Given the description of an element on the screen output the (x, y) to click on. 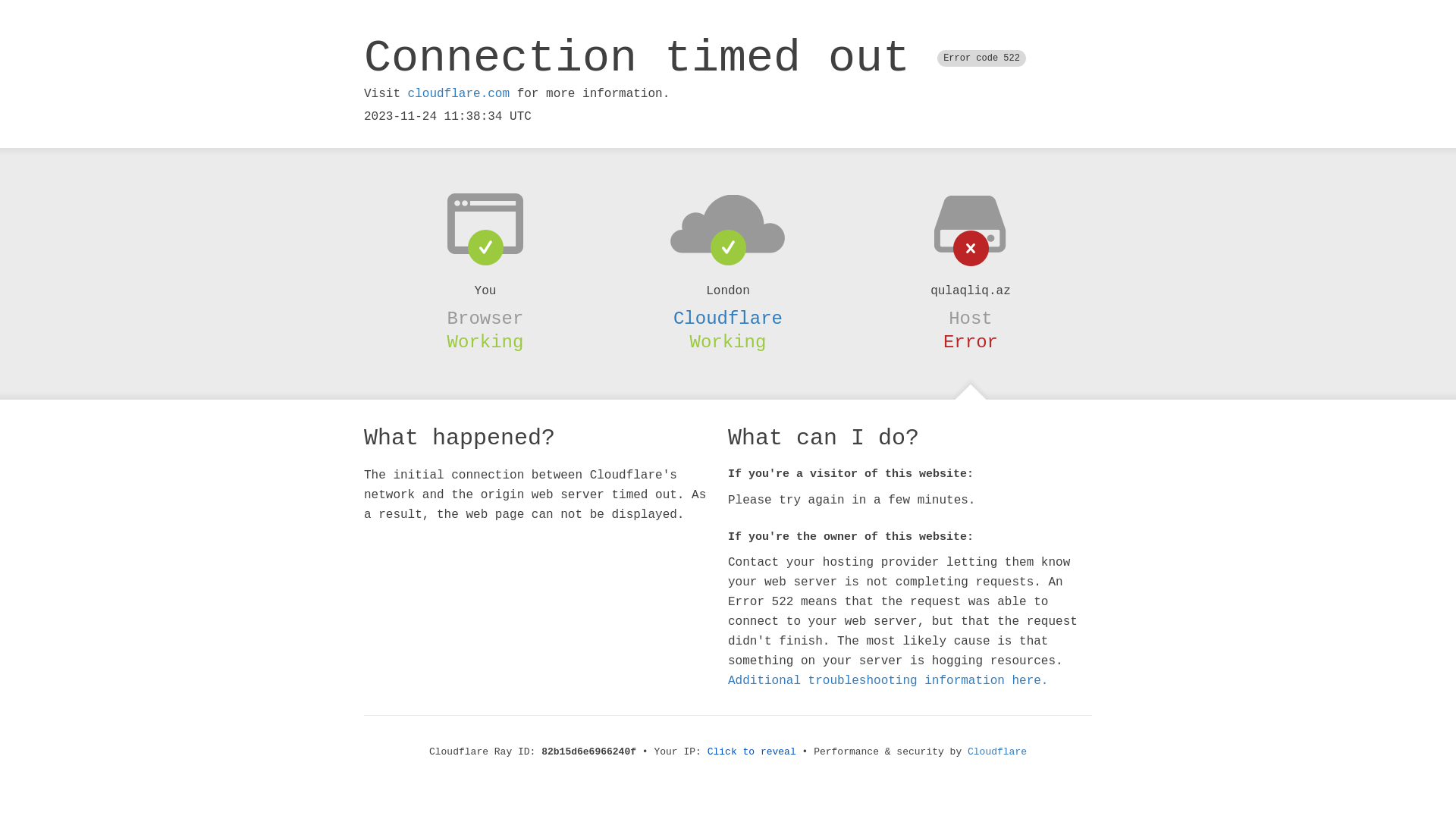
Additional troubleshooting information here. Element type: text (888, 680)
cloudflare.com Element type: text (458, 93)
Cloudflare Element type: text (996, 751)
Click to reveal Element type: text (751, 751)
Cloudflare Element type: text (727, 318)
